Given the description of an element on the screen output the (x, y) to click on. 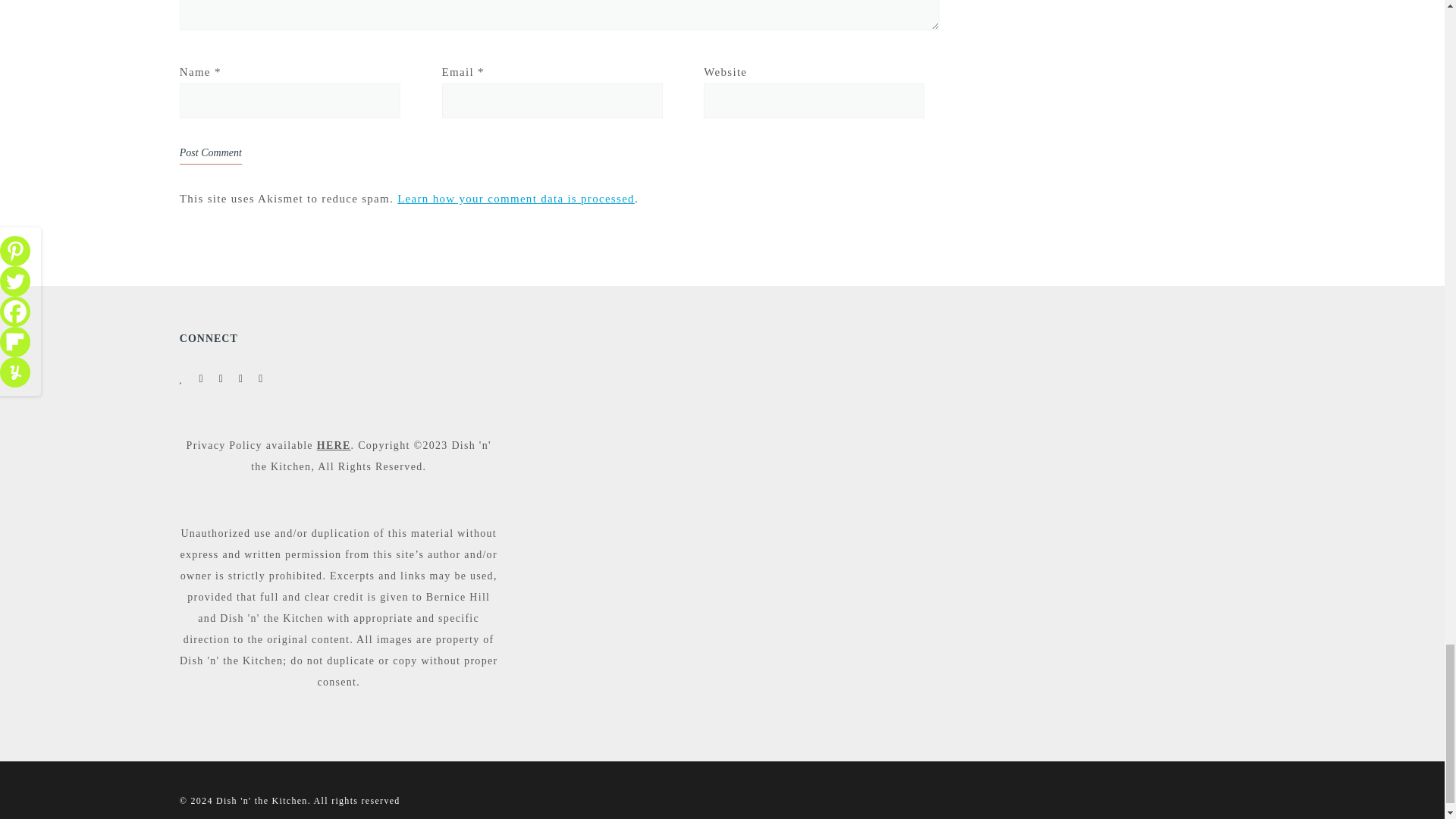
Post Comment (210, 153)
